Given the description of an element on the screen output the (x, y) to click on. 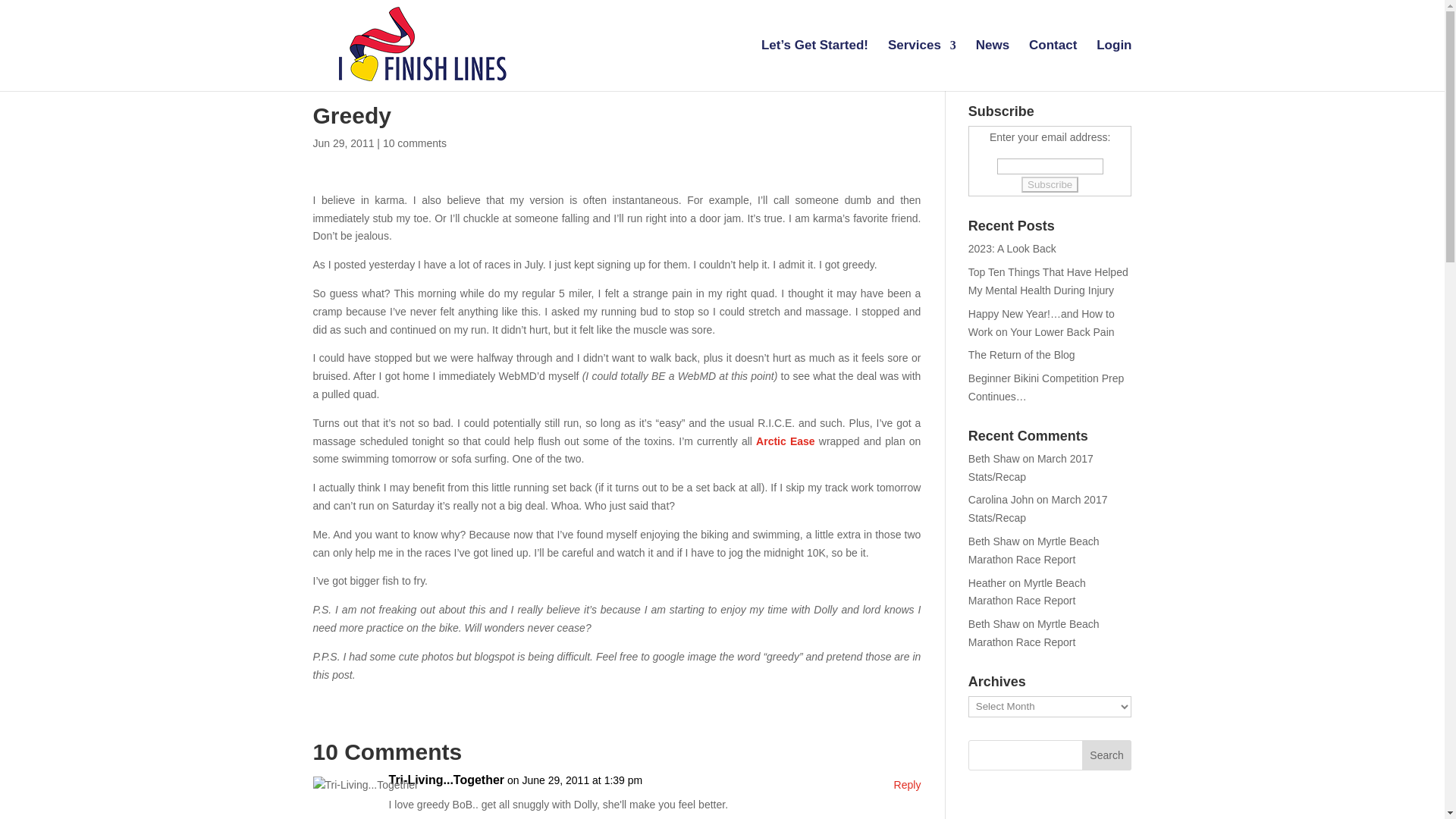
Subscribe (1050, 184)
Reply (907, 785)
2023: A Look Back (1012, 248)
The Return of the Blog (1021, 354)
Search (1106, 755)
Tri-Living...Together (445, 780)
Services (922, 65)
Contact (1053, 65)
Subscribe (1050, 184)
10 comments (414, 143)
Arctic Ease (786, 440)
Beth Shaw (994, 458)
